Given the description of an element on the screen output the (x, y) to click on. 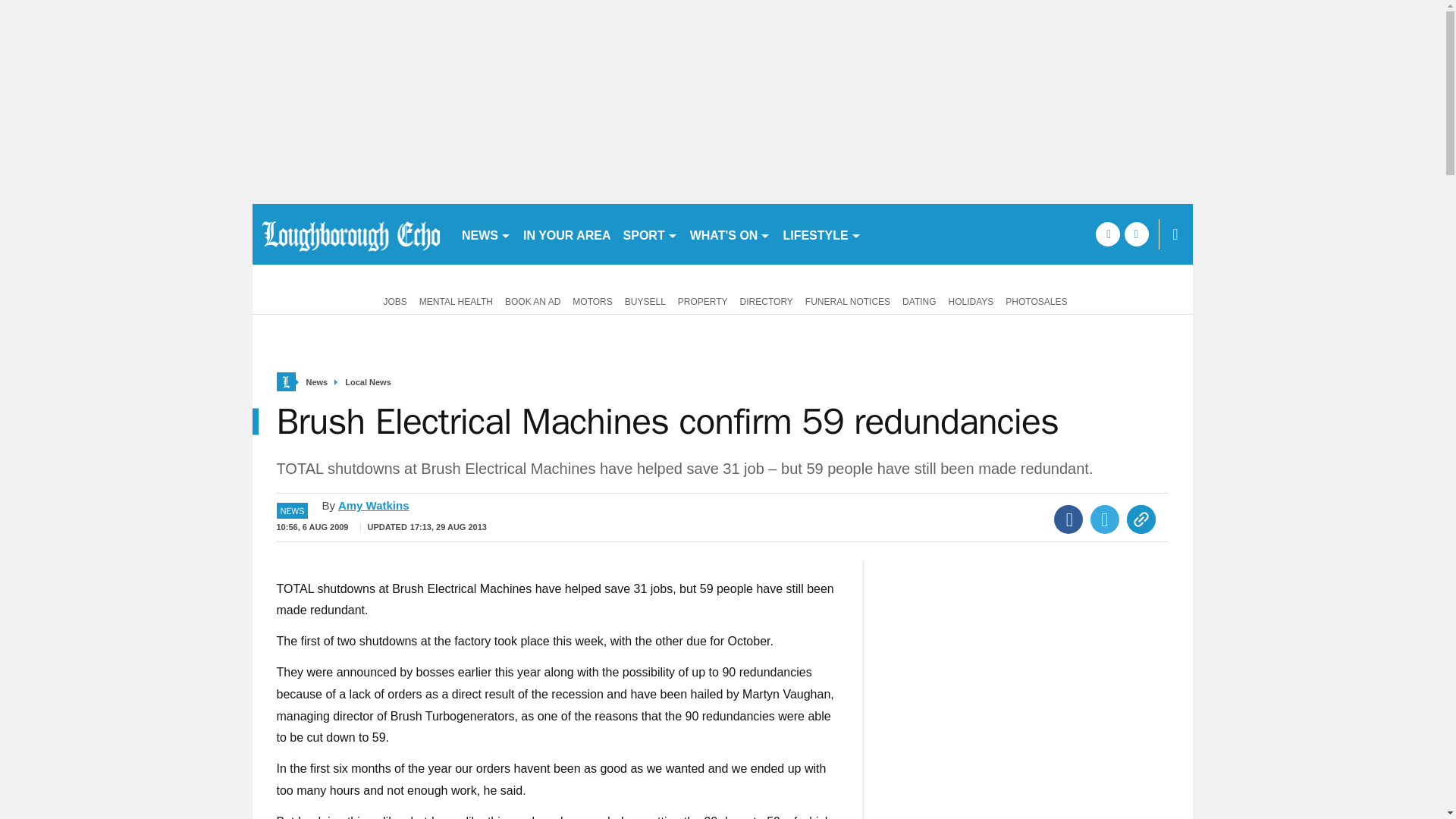
MOTORS (591, 300)
BUYSELL (644, 300)
twitter (1136, 233)
facebook (1106, 233)
SPORT (650, 233)
Facebook (1068, 519)
BOOK AN AD (532, 300)
NEWS (485, 233)
loughborough (349, 233)
MENTAL HEALTH (456, 300)
